Given the description of an element on the screen output the (x, y) to click on. 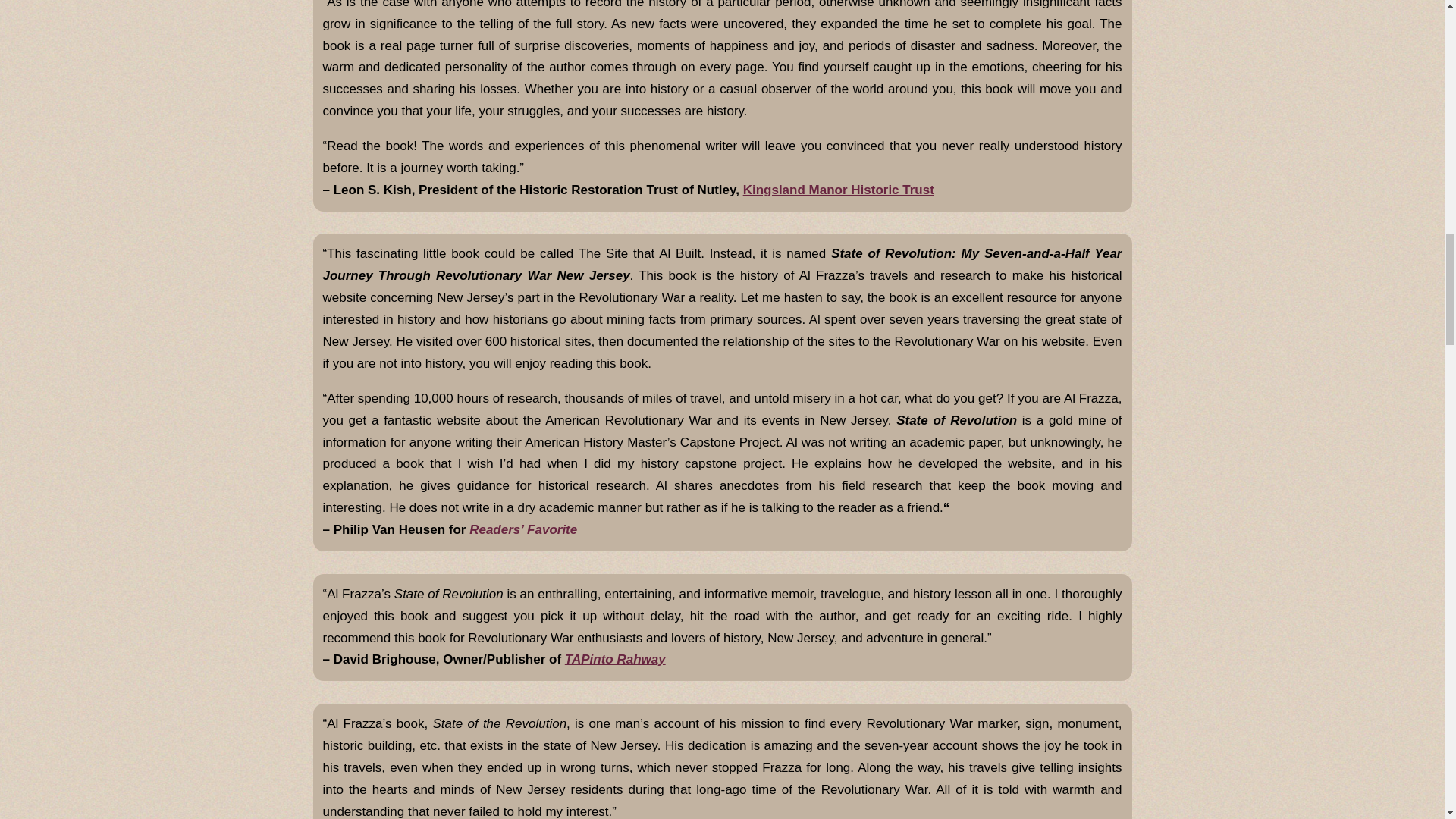
Book Review for Al Frazza State of Revolution (522, 529)
Kingsland Manor Historic Trust (838, 189)
TAPinto Rahway (614, 658)
